Given the description of an element on the screen output the (x, y) to click on. 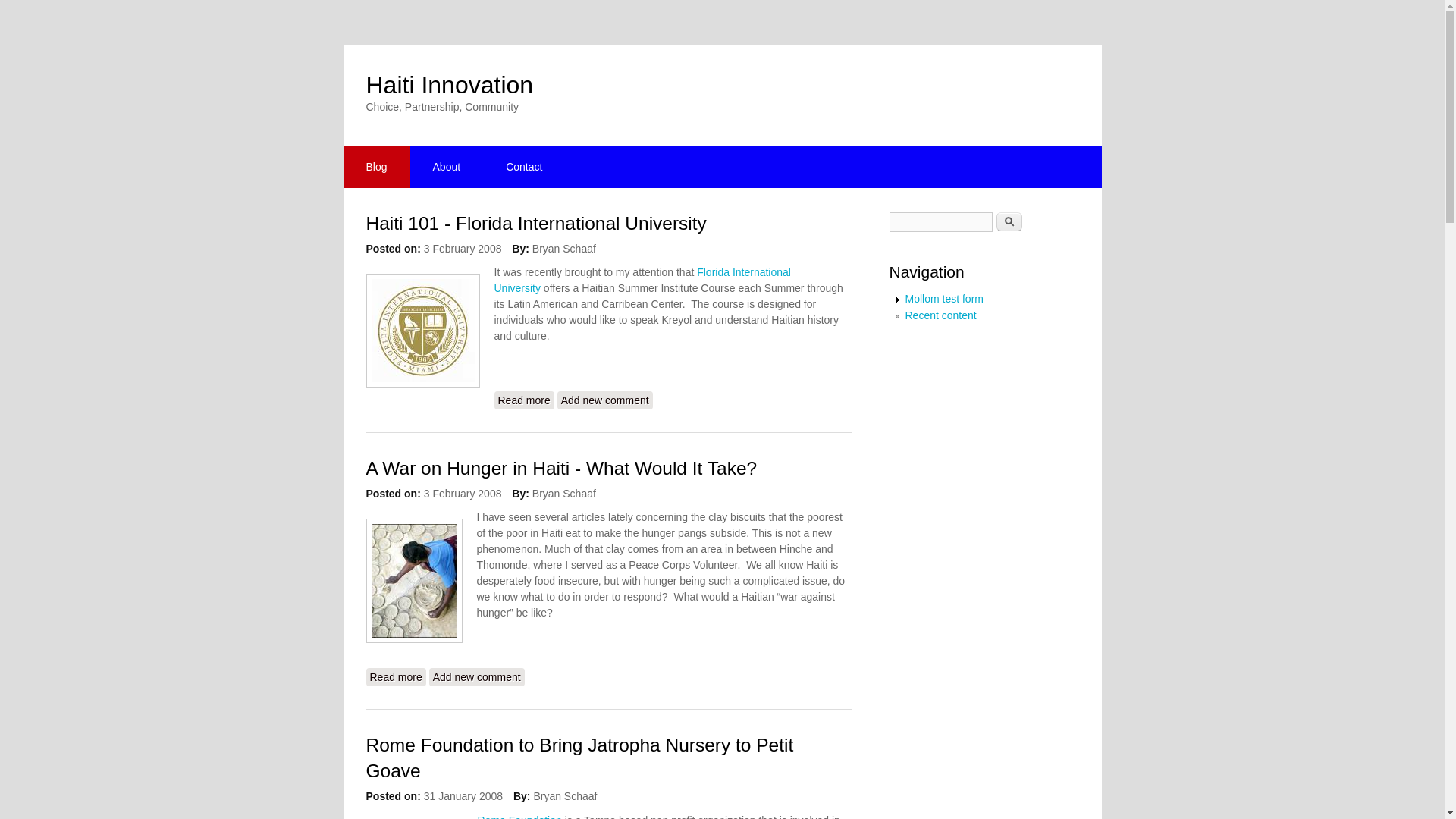
Haiti Innovation (448, 84)
Haiti 101 - Florida International University (535, 222)
Florida International University (642, 280)
Rome Foundation to Bring Jatropha Nursery to Petit Goave (524, 400)
A War on Hunger in Haiti - What Would It Take? (579, 757)
About (395, 677)
Add a new comment to this page. (446, 167)
Haiti 101 - Florida International University (476, 677)
Blog (524, 400)
Add new comment (375, 167)
Contact (604, 400)
About Haiti Innovation (523, 167)
A War on Hunger in Haiti - What Would It Take? (446, 167)
Search (561, 467)
